Given the description of an element on the screen output the (x, y) to click on. 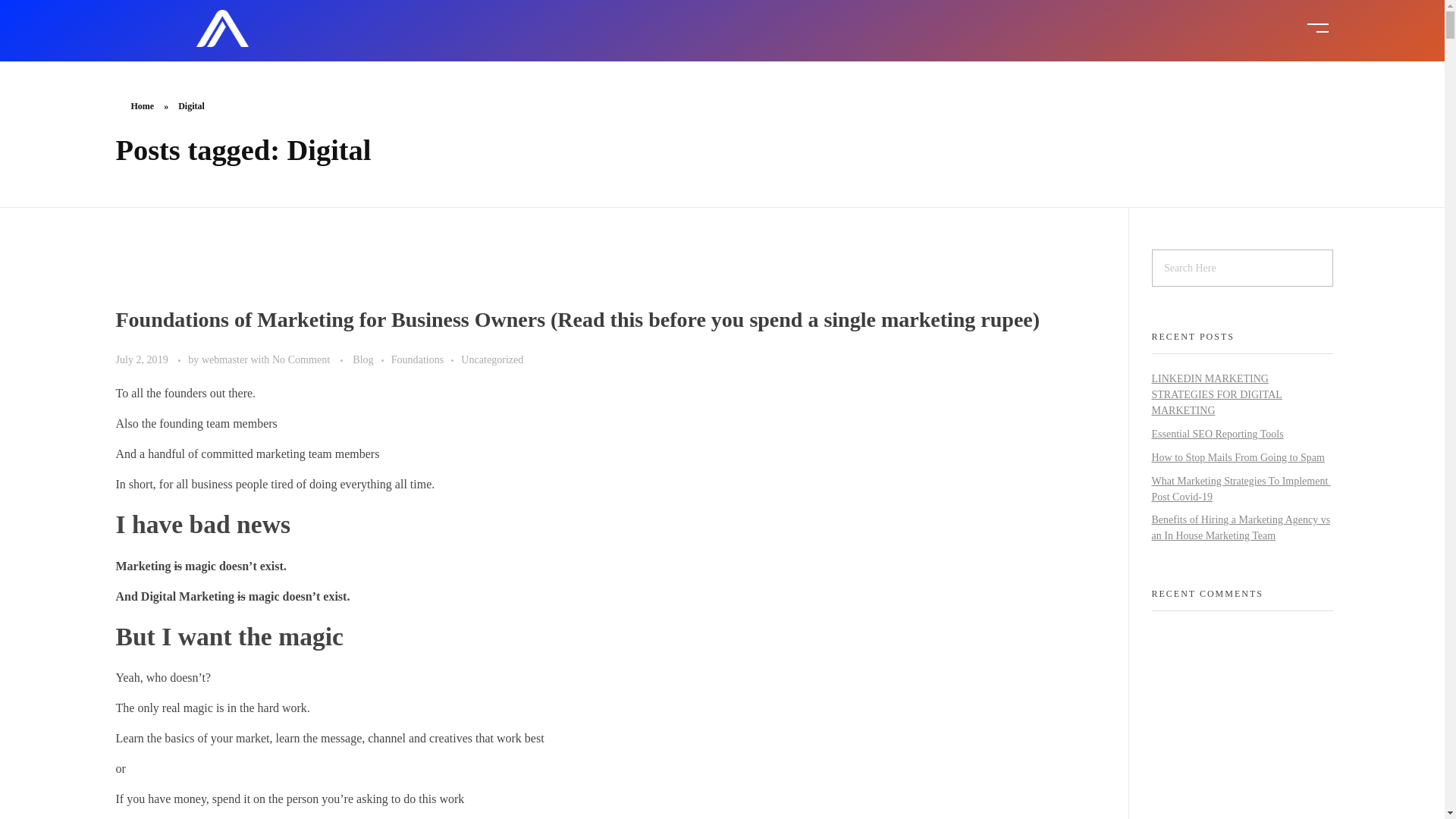
View all posts in Blog (371, 359)
View all posts in Foundations (426, 359)
Home (142, 105)
Aarrmor (231, 55)
Foundations (426, 359)
No Comment (301, 358)
View all posts in Uncategorized (491, 359)
Blog (371, 359)
View all posts by webmaster (226, 358)
Aarrmor (231, 55)
